Given the description of an element on the screen output the (x, y) to click on. 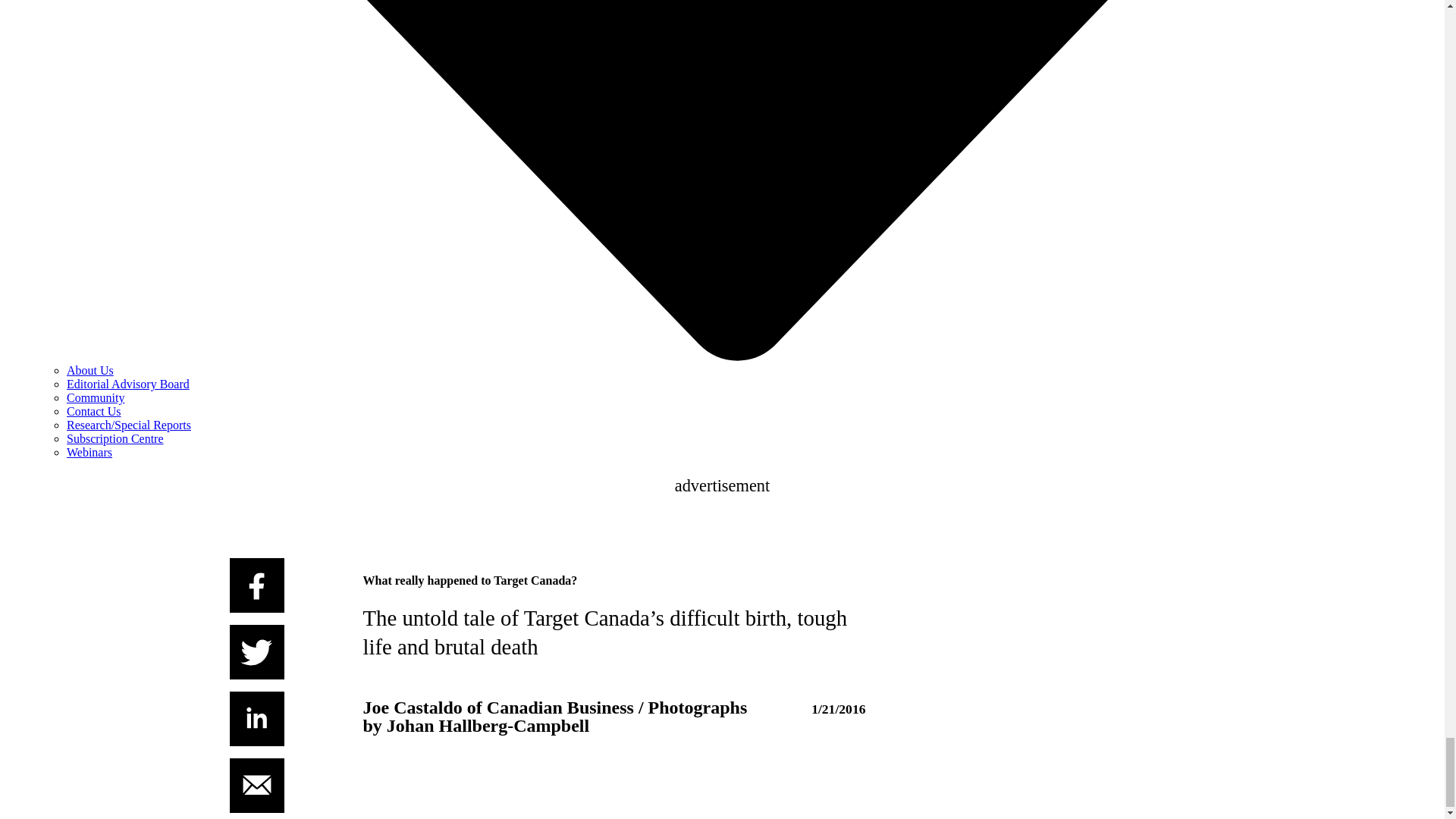
About Us (89, 369)
linkedIn (255, 718)
twitter (255, 651)
Editorial Advisory Board (127, 383)
linkedIn (255, 718)
Webinars (89, 451)
Contact Us (93, 410)
Community (94, 397)
Subscription Centre (114, 438)
facebook (255, 584)
twitter (255, 651)
email (255, 785)
facebook (255, 584)
email (255, 785)
